Given the description of an element on the screen output the (x, y) to click on. 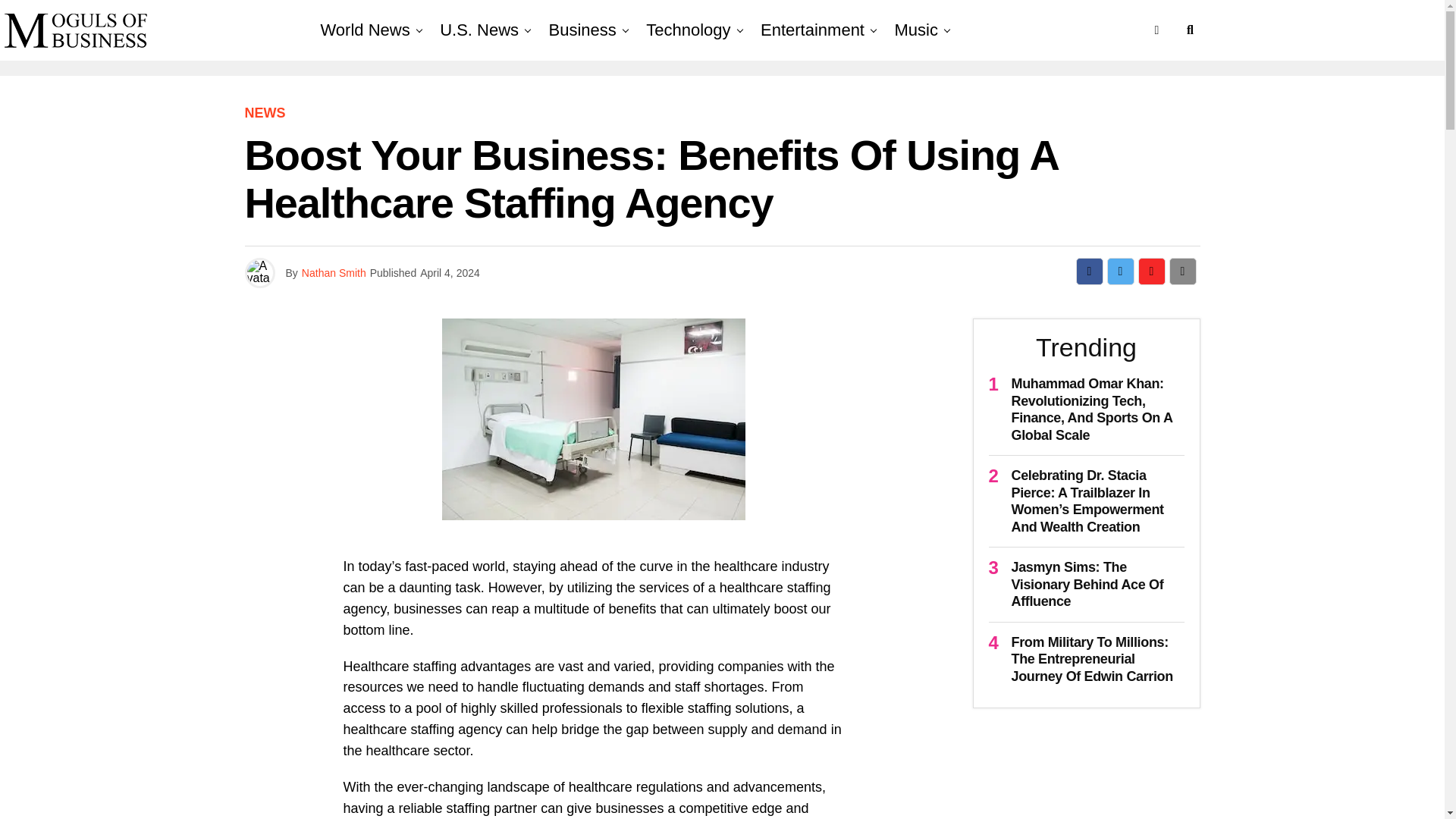
Technology (688, 30)
Entertainment (812, 30)
Share on Flipboard (1150, 271)
Tweet This Post (1120, 271)
Share on Facebook (1088, 271)
Music (915, 30)
Posts by Nathan Smith (333, 272)
U.S. News (478, 30)
Business (582, 30)
World News (364, 30)
